Given the description of an element on the screen output the (x, y) to click on. 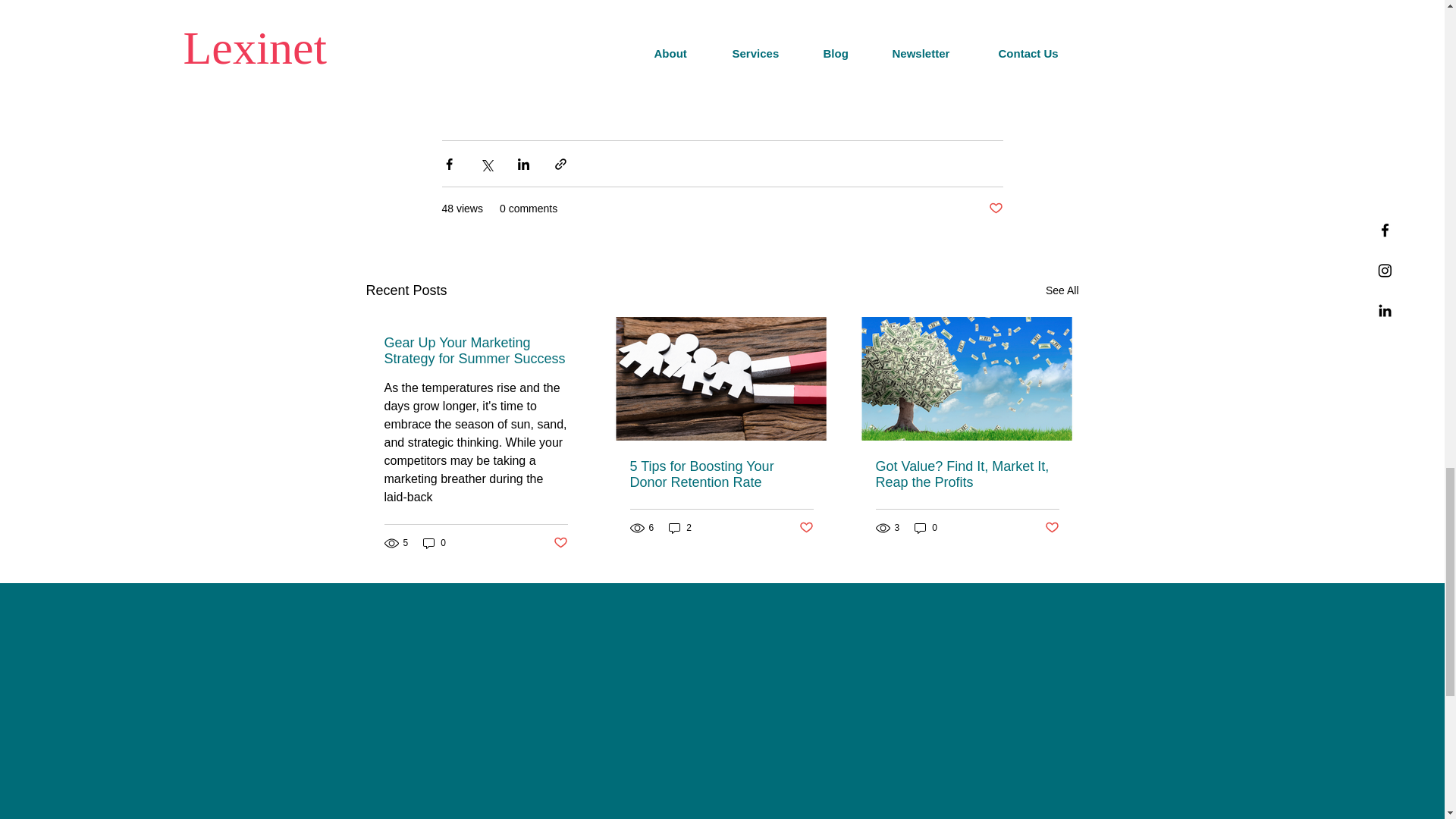
5 Tips for Boosting Your Donor Retention Rate (720, 474)
Post not marked as liked (806, 528)
Post not marked as liked (995, 208)
Got Value? Find It, Market It, Reap the Profits (966, 474)
Gear Up Your Marketing Strategy for Summer Success (475, 350)
Post not marked as liked (560, 543)
0 (434, 543)
See All (1061, 291)
2 (679, 527)
0 (925, 527)
